Given the description of an element on the screen output the (x, y) to click on. 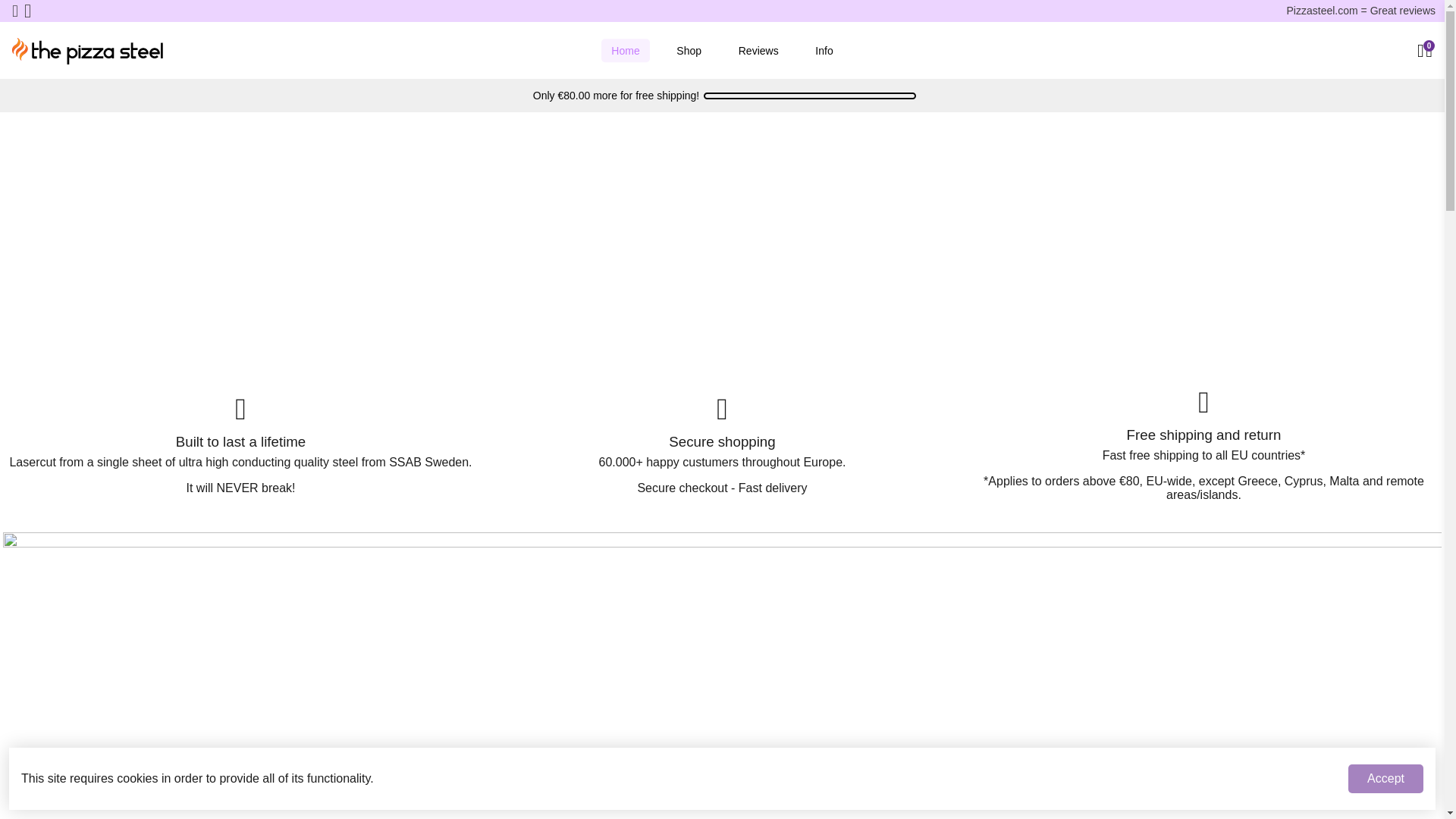
Shop (688, 50)
Reviews (758, 50)
Home (624, 50)
